Given the description of an element on the screen output the (x, y) to click on. 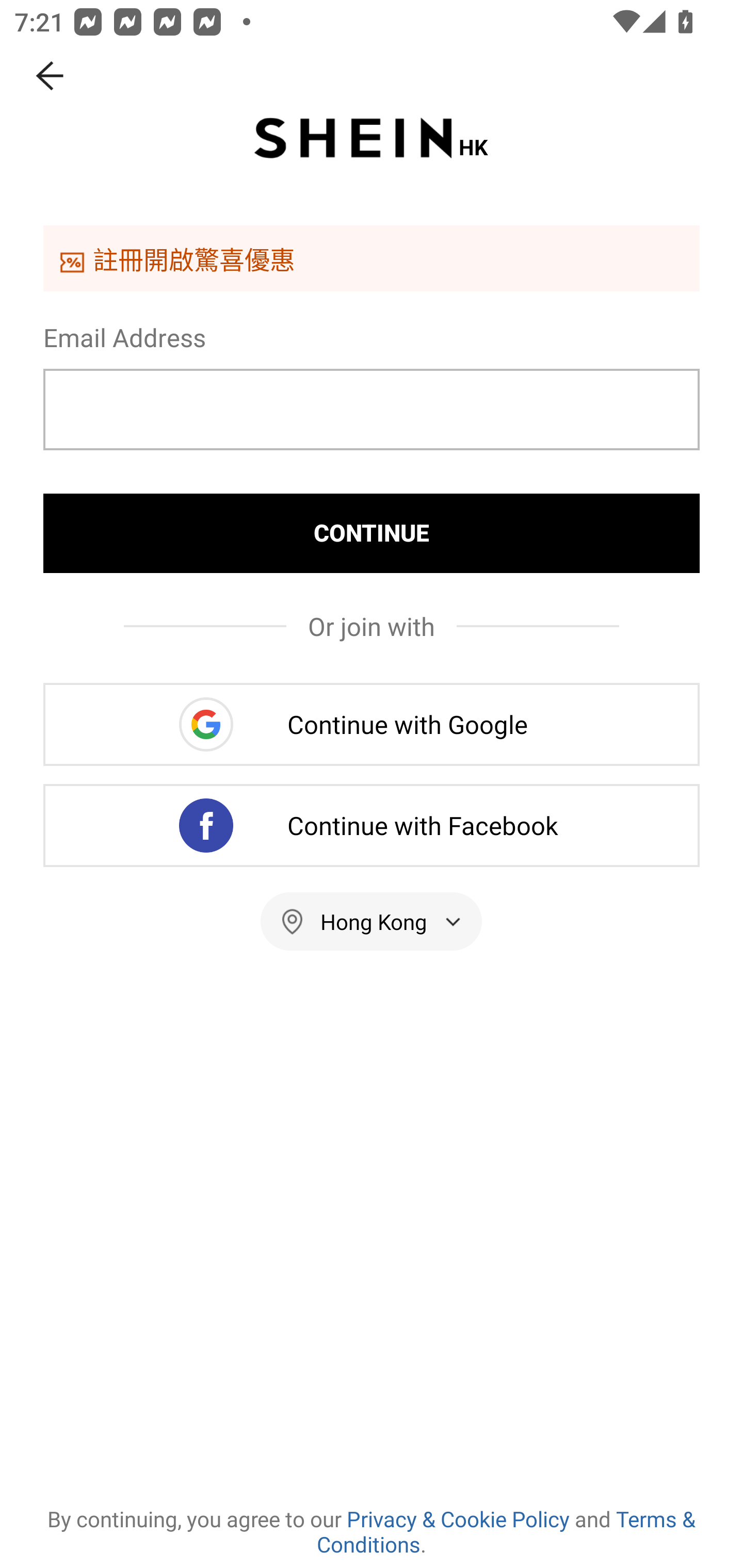
CLOSE (50, 75)
CONTINUE (371, 532)
Continue with Google (371, 724)
Continue with Facebook (371, 825)
Hong Kong (371, 921)
